Given the description of an element on the screen output the (x, y) to click on. 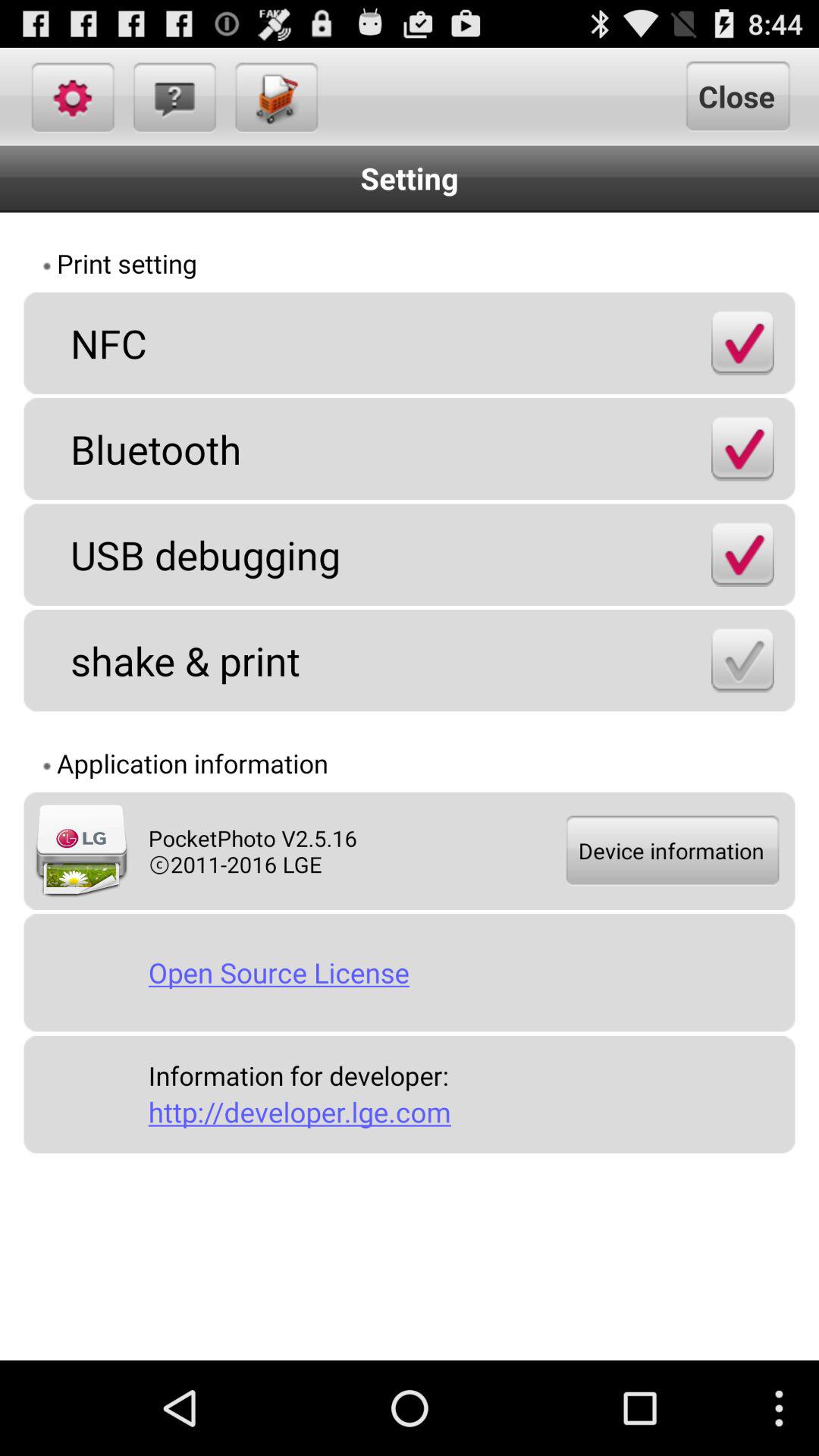
launch button to the left of close item (275, 96)
